Given the description of an element on the screen output the (x, y) to click on. 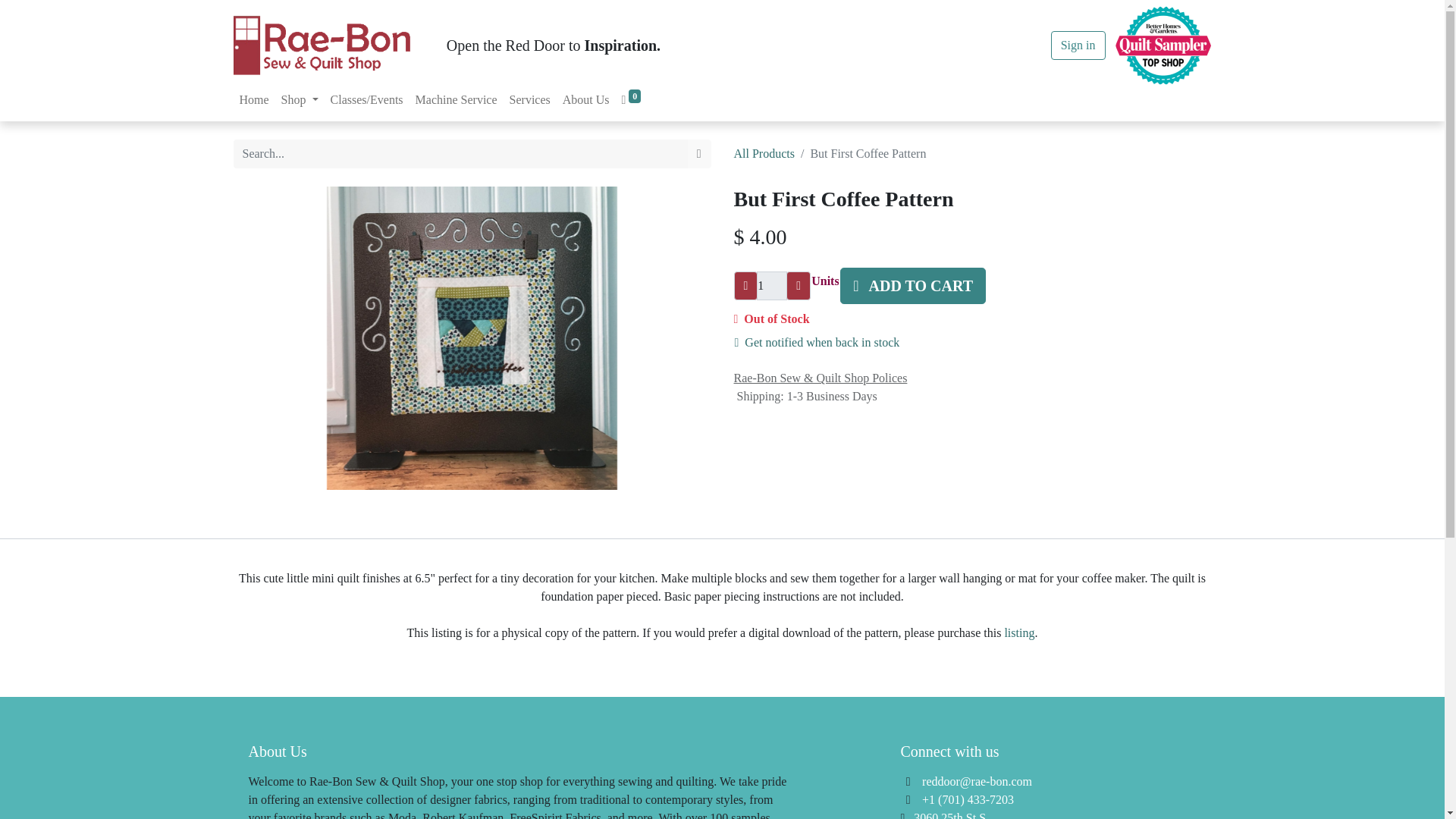
Machine Service (456, 100)
About Us (585, 100)
Shop (299, 100)
1 (772, 285)
0 (630, 100)
Sign in (1078, 45)
Home (253, 100)
All Products (763, 153)
ADD TO CART (912, 285)
Units (824, 281)
listing (1018, 632)
Services (529, 100)
